Given the description of an element on the screen output the (x, y) to click on. 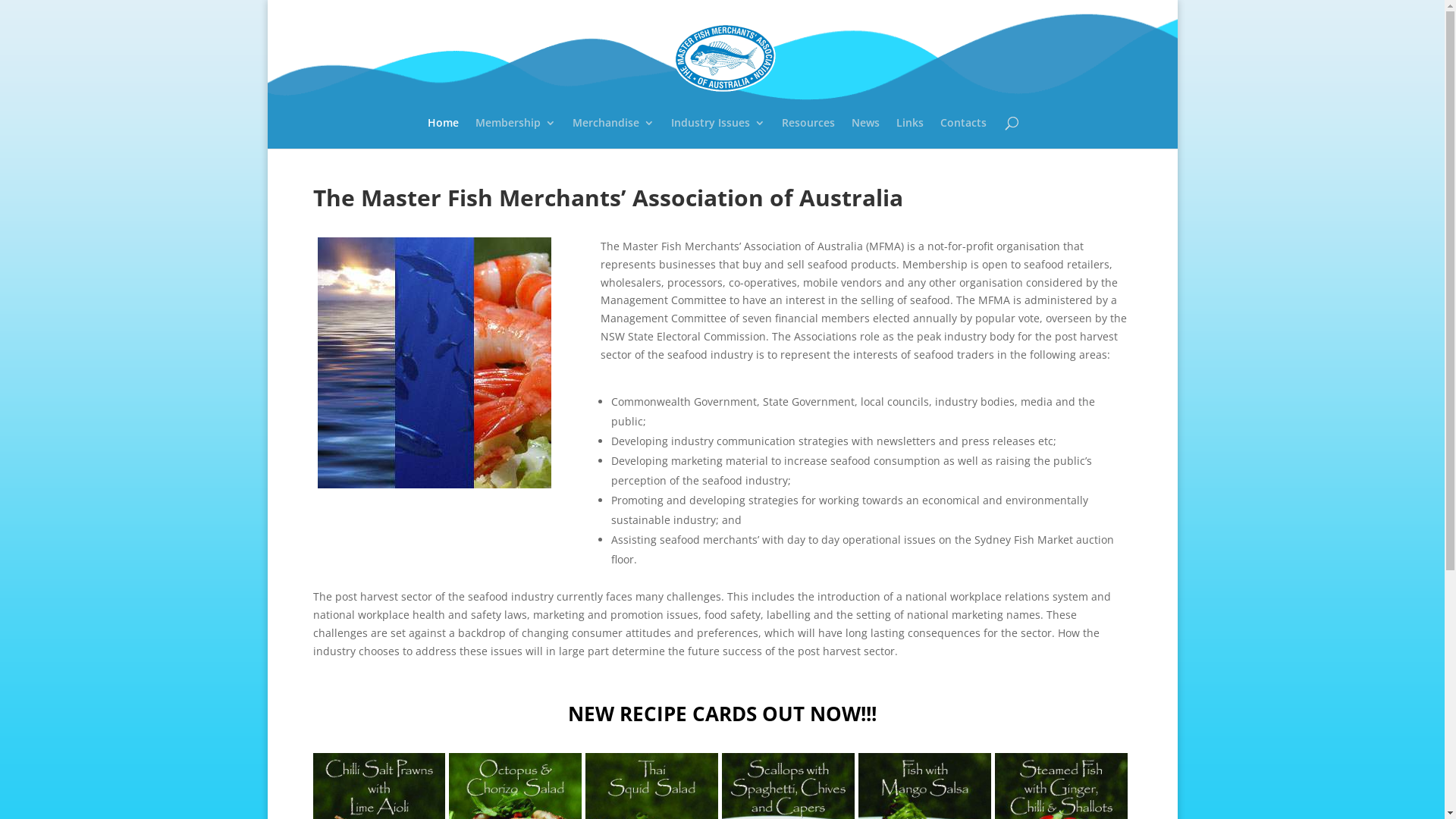
Home Element type: text (442, 132)
Contacts Element type: text (963, 132)
Industry Issues Element type: text (718, 132)
Links Element type: text (909, 132)
Membership Element type: text (515, 132)
Resources Element type: text (807, 132)
News Element type: text (865, 132)
Merchandise Element type: text (613, 132)
